Given the description of an element on the screen output the (x, y) to click on. 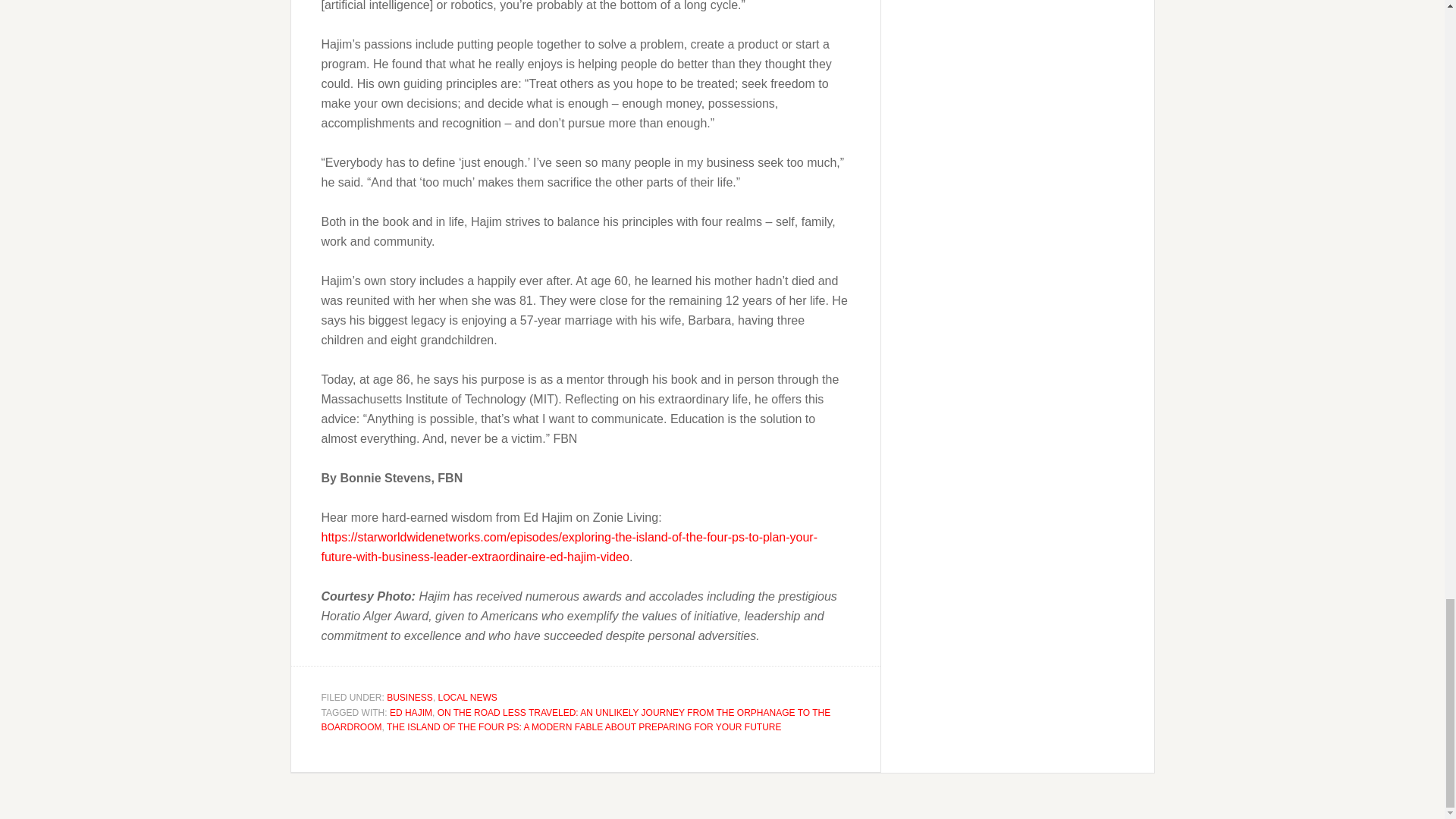
ED HAJIM (411, 712)
BUSINESS (409, 697)
LOCAL NEWS (467, 697)
